Given the description of an element on the screen output the (x, y) to click on. 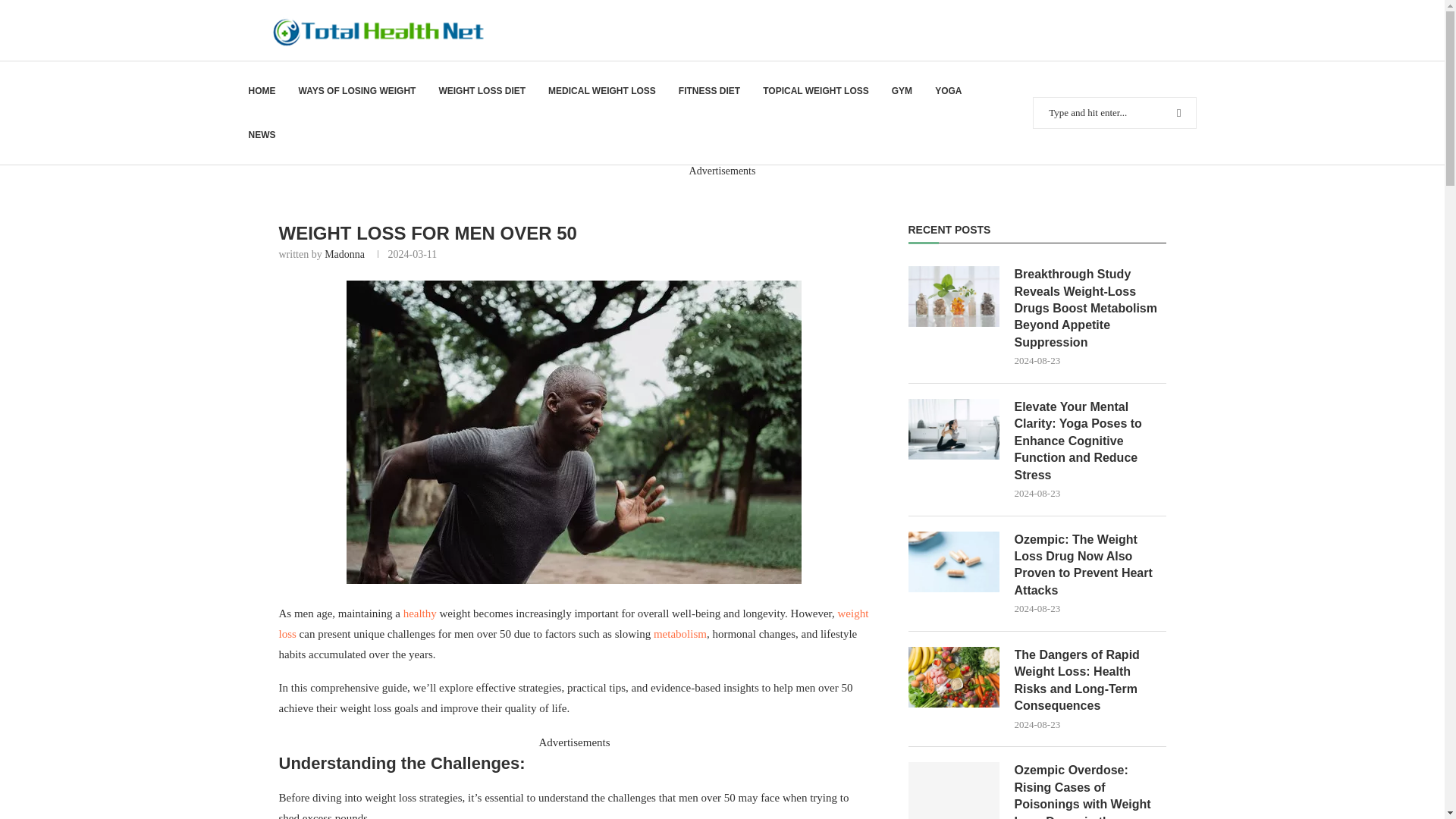
MEDICAL WEIGHT LOSS (602, 90)
WEIGHT LOSS DIET (481, 90)
FITNESS DIET (708, 90)
TOPICAL WEIGHT LOSS (815, 90)
